Given the description of an element on the screen output the (x, y) to click on. 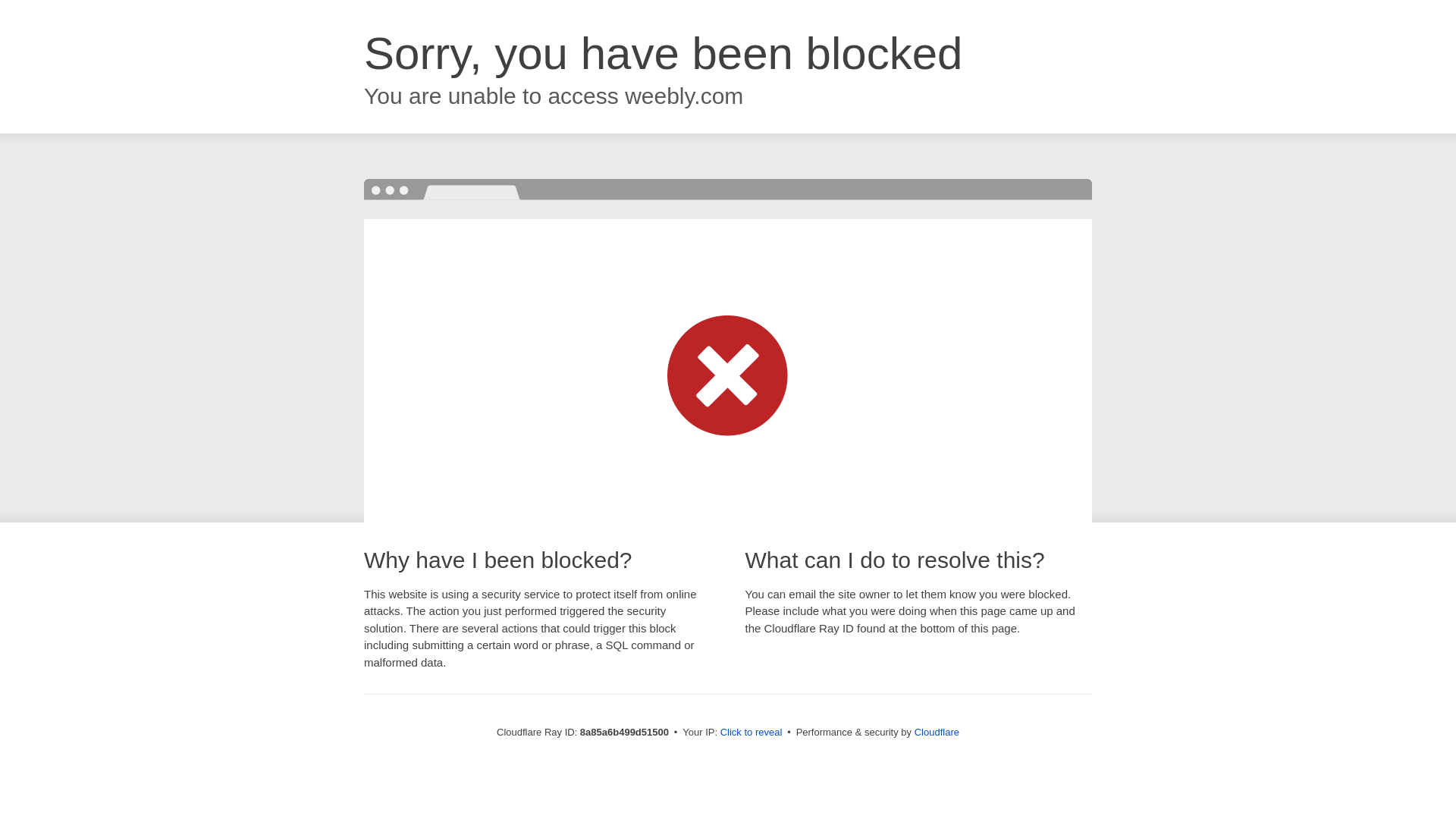
Cloudflare (936, 731)
Click to reveal (751, 732)
